Given the description of an element on the screen output the (x, y) to click on. 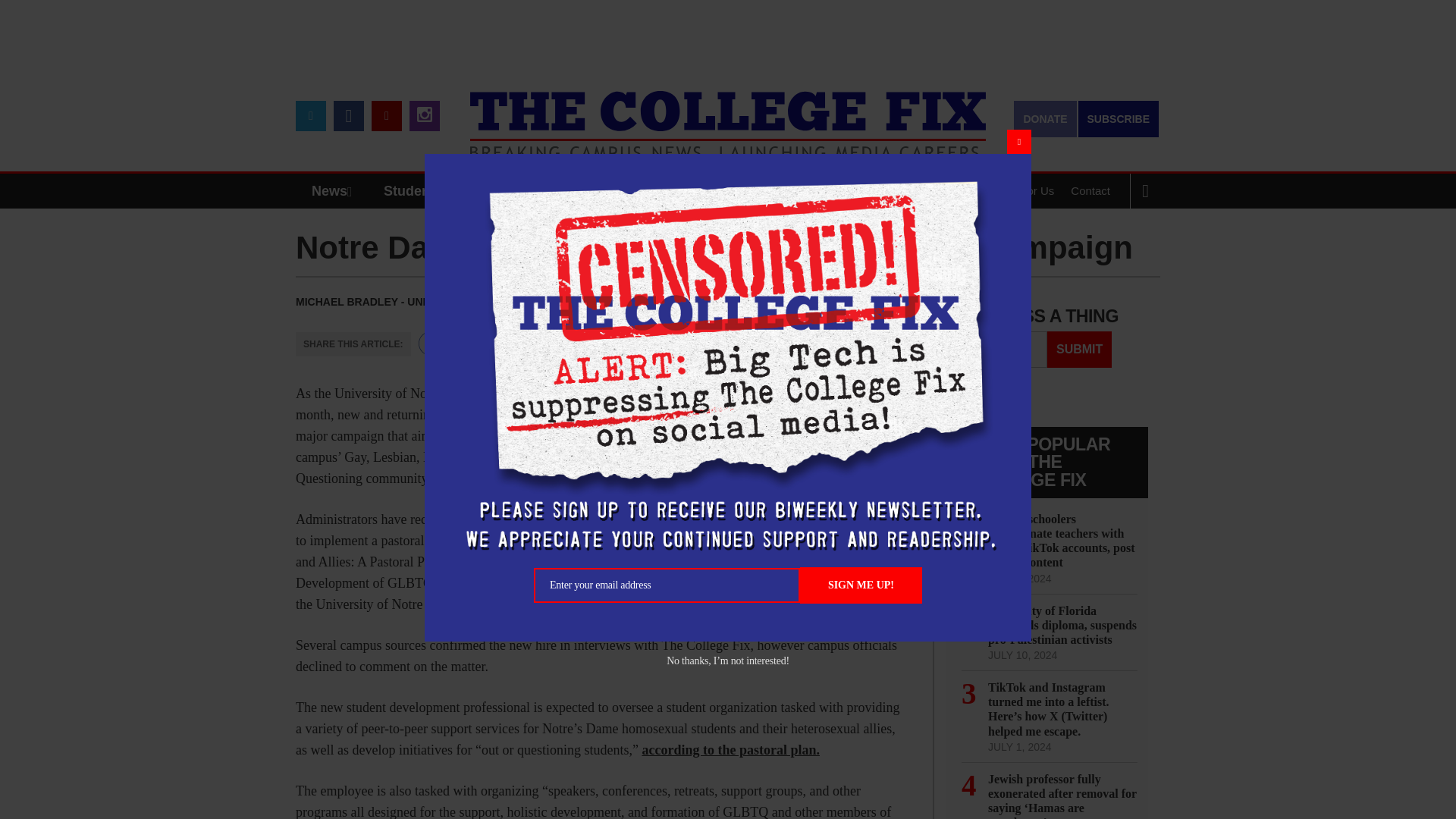
DONATE (1044, 118)
The College Fix (727, 114)
Submit (1079, 349)
News (335, 190)
Student Reporters (443, 190)
SUBSCRIBE (1118, 118)
MERCHANDISE (577, 190)
About The Fix (938, 190)
